Given the description of an element on the screen output the (x, y) to click on. 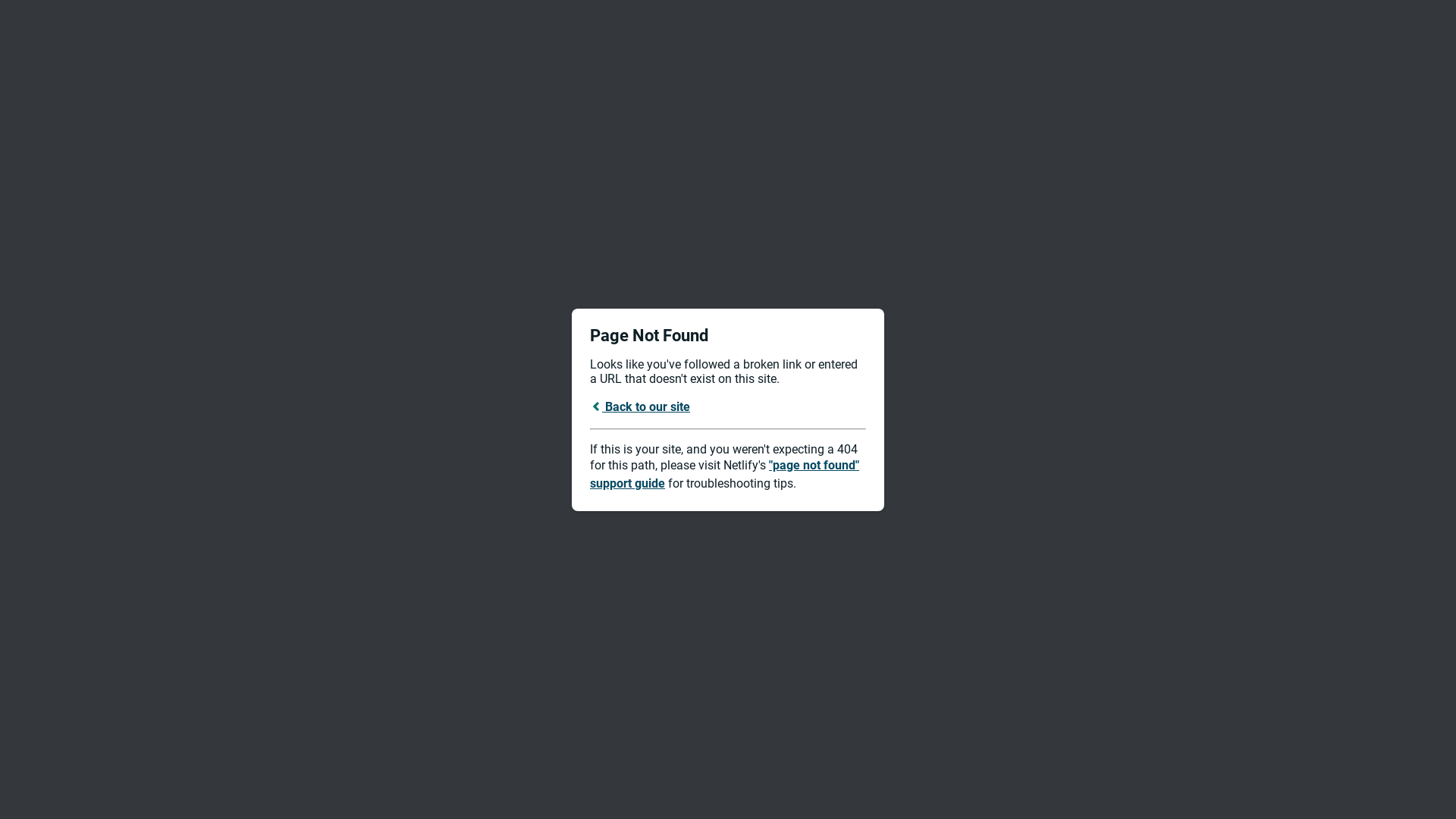
Back to our site Element type: text (639, 405)
"page not found" support guide Element type: text (724, 474)
